Given the description of an element on the screen output the (x, y) to click on. 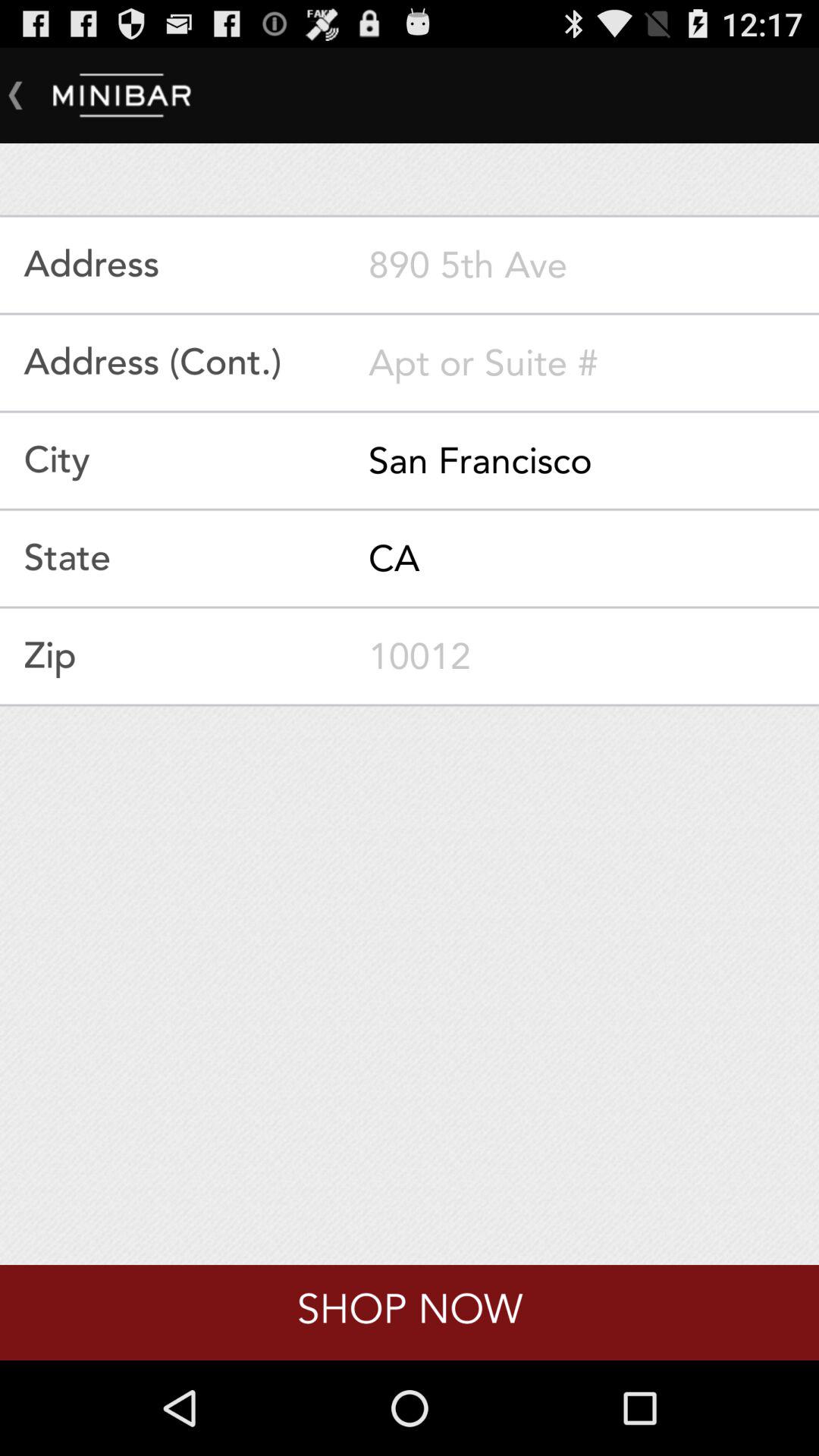
ender the address (593, 264)
